Given the description of an element on the screen output the (x, y) to click on. 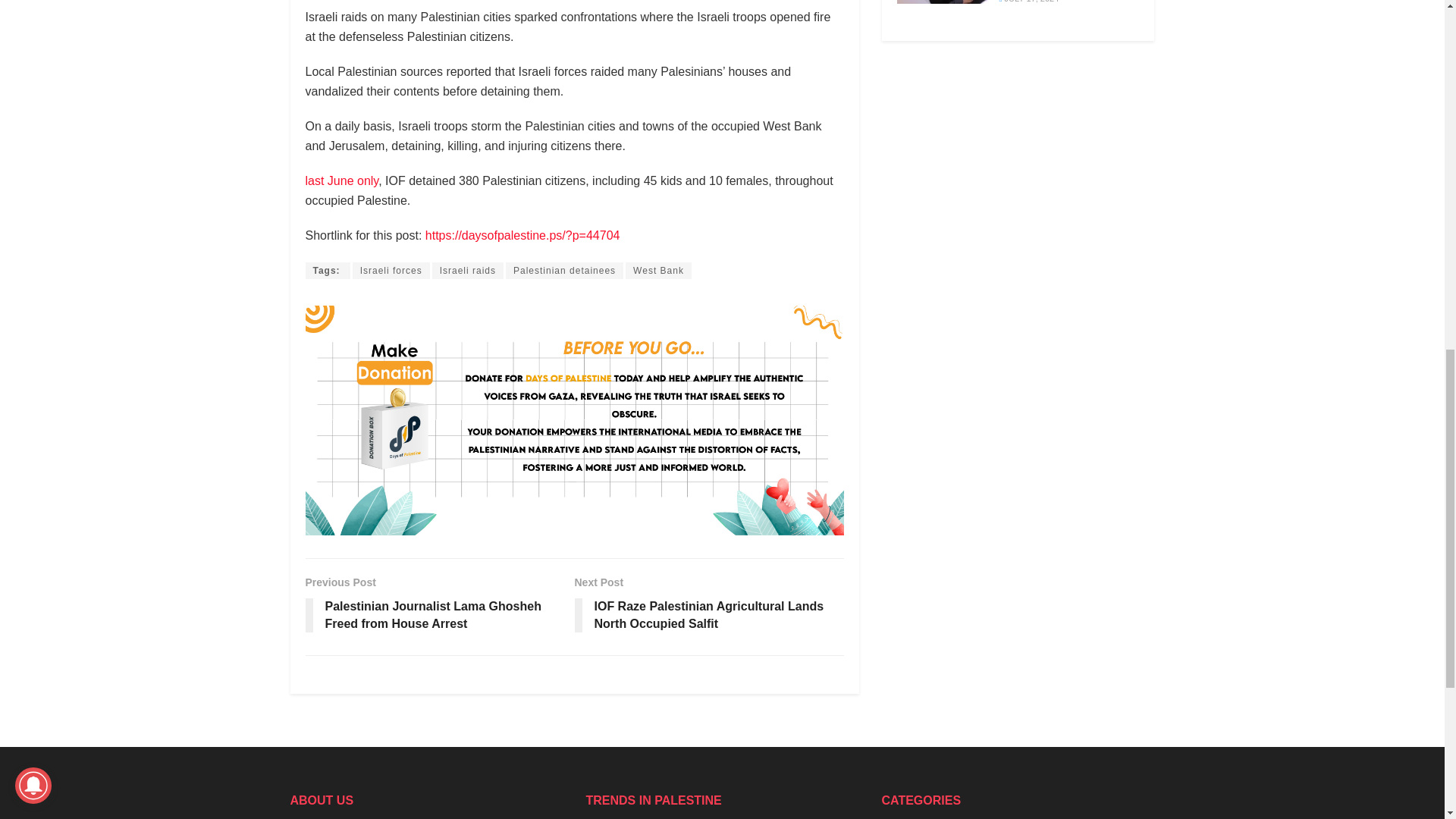
Gaza Suffers Heavy Casualties Amid Ongoing Israeli Attacks 7 (941, 2)
